Given the description of an element on the screen output the (x, y) to click on. 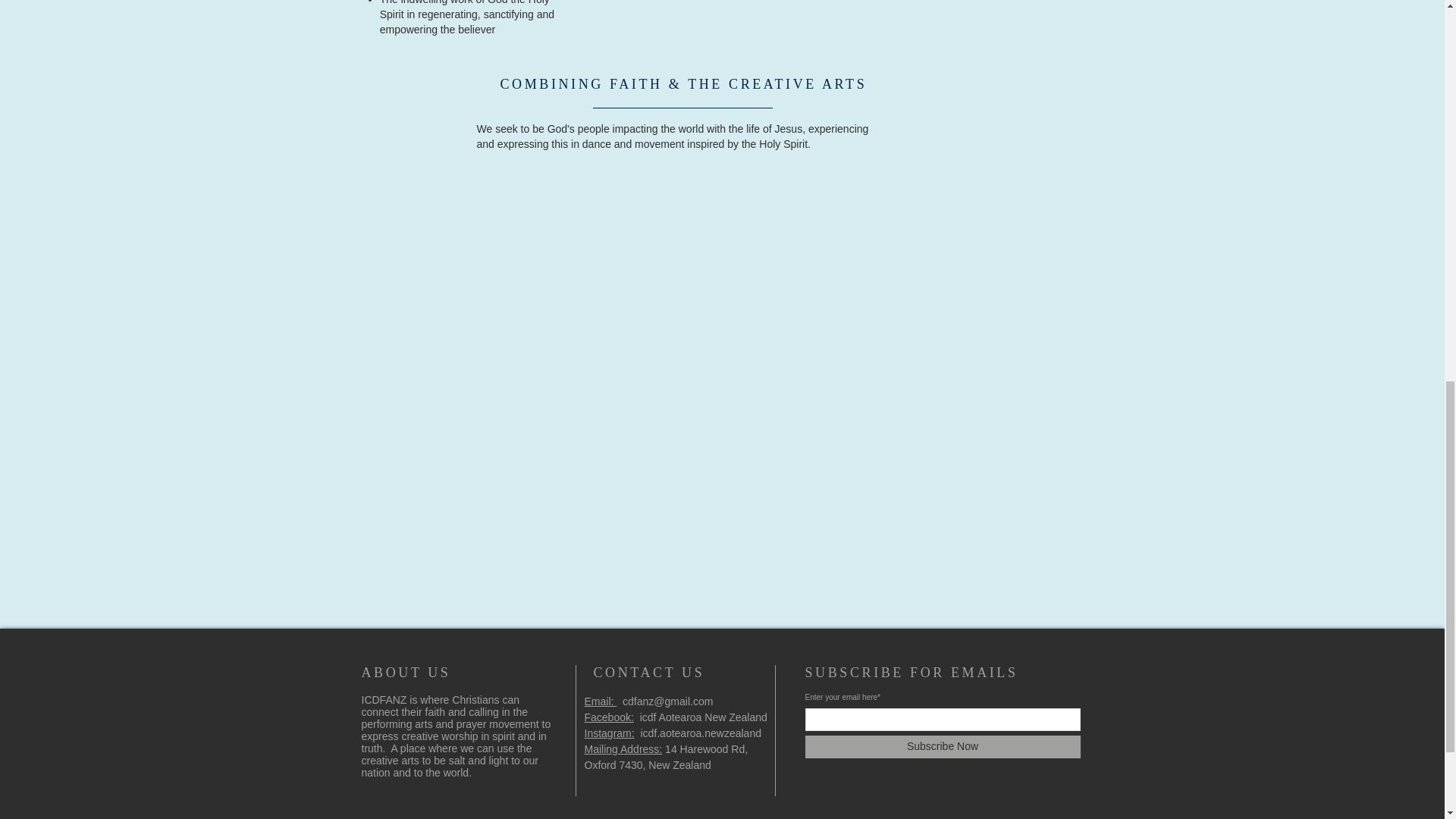
Subscribe Now (942, 746)
